Given the description of an element on the screen output the (x, y) to click on. 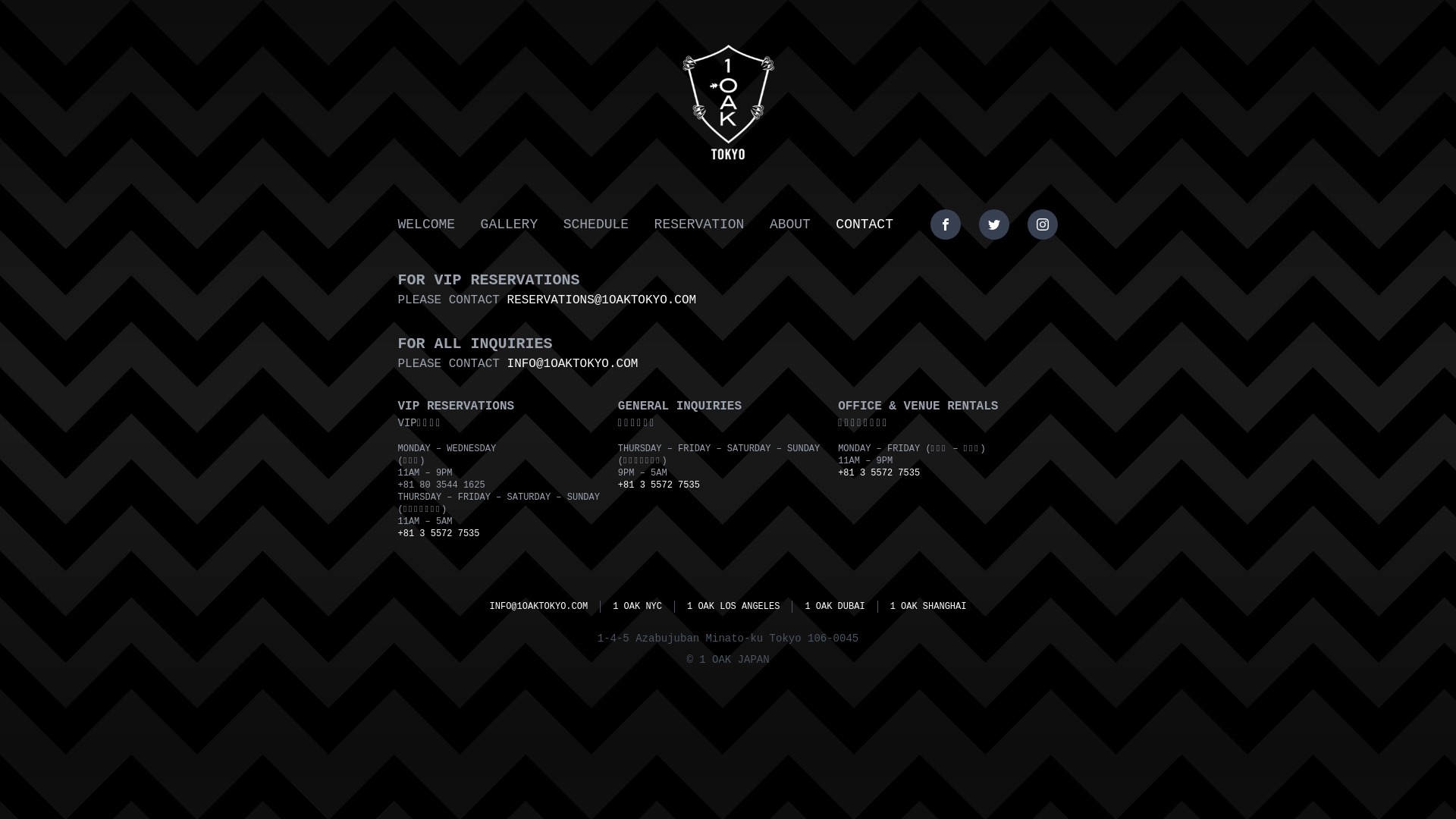
1 OAK LOS ANGELES Element type: text (733, 606)
+81 3 5572 7535 Element type: text (878, 472)
INFO@1OAKTOKYO.COM Element type: text (538, 606)
1 OAK DUBAI Element type: text (834, 606)
1 OAK SHANGHAI Element type: text (928, 606)
SCHEDULE Element type: text (595, 224)
+81 3 5572 7535 Element type: text (438, 533)
GALLERY Element type: text (509, 224)
RESERVATION Element type: text (699, 224)
+81 3 5572 7535 Element type: text (658, 485)
WELCOME Element type: text (426, 224)
RESERVATIONS@1OAKTOKYO.COM Element type: text (601, 300)
1 OAK NYC Element type: text (637, 606)
CONTACT Element type: text (864, 224)
ABOUT Element type: text (789, 224)
INFO@1OAKTOKYO.COM Element type: text (572, 363)
